Given the description of an element on the screen output the (x, y) to click on. 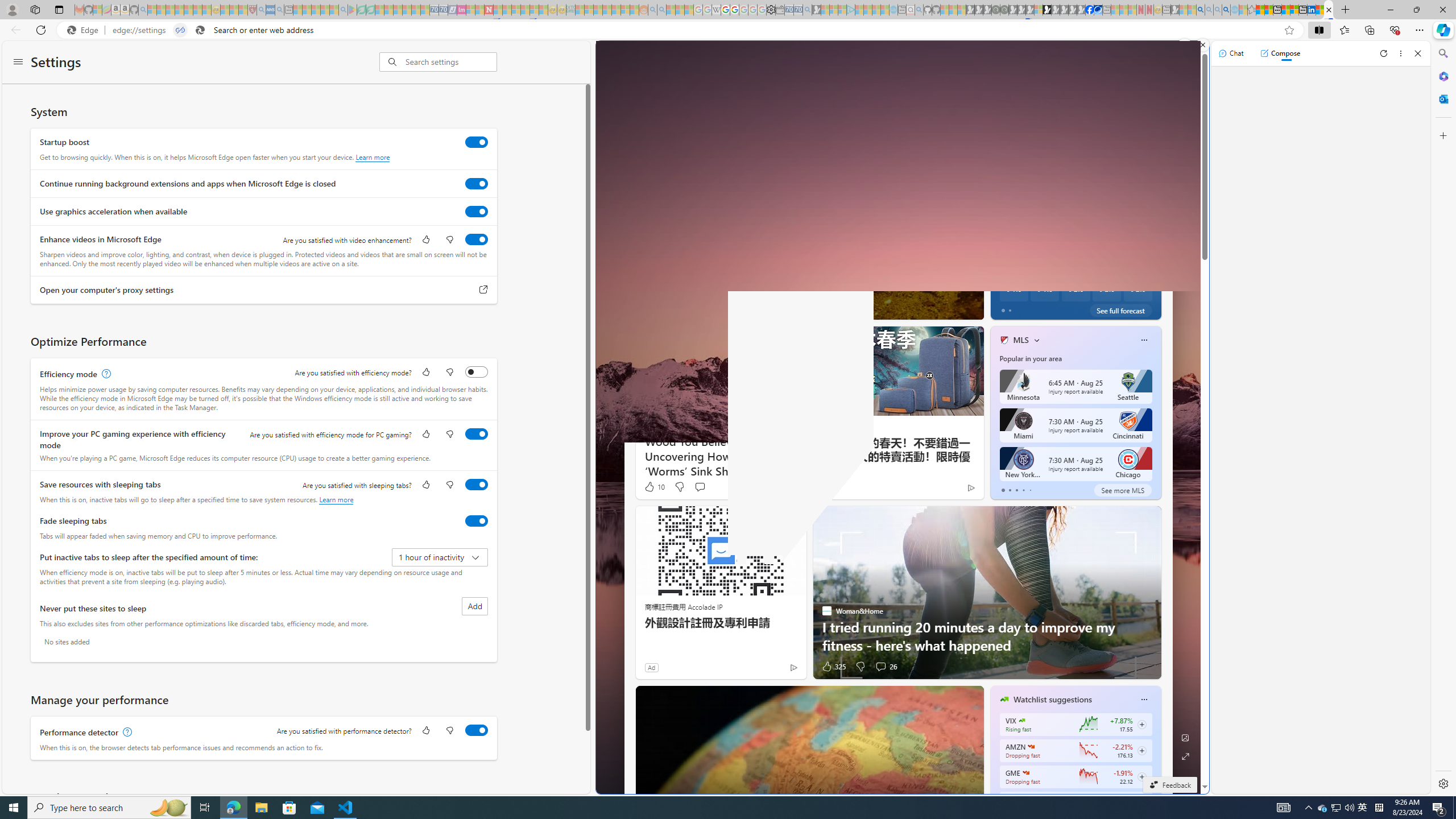
199 Like (1007, 307)
View comments 26 Comment (885, 666)
MLS (1021, 339)
